Given the description of an element on the screen output the (x, y) to click on. 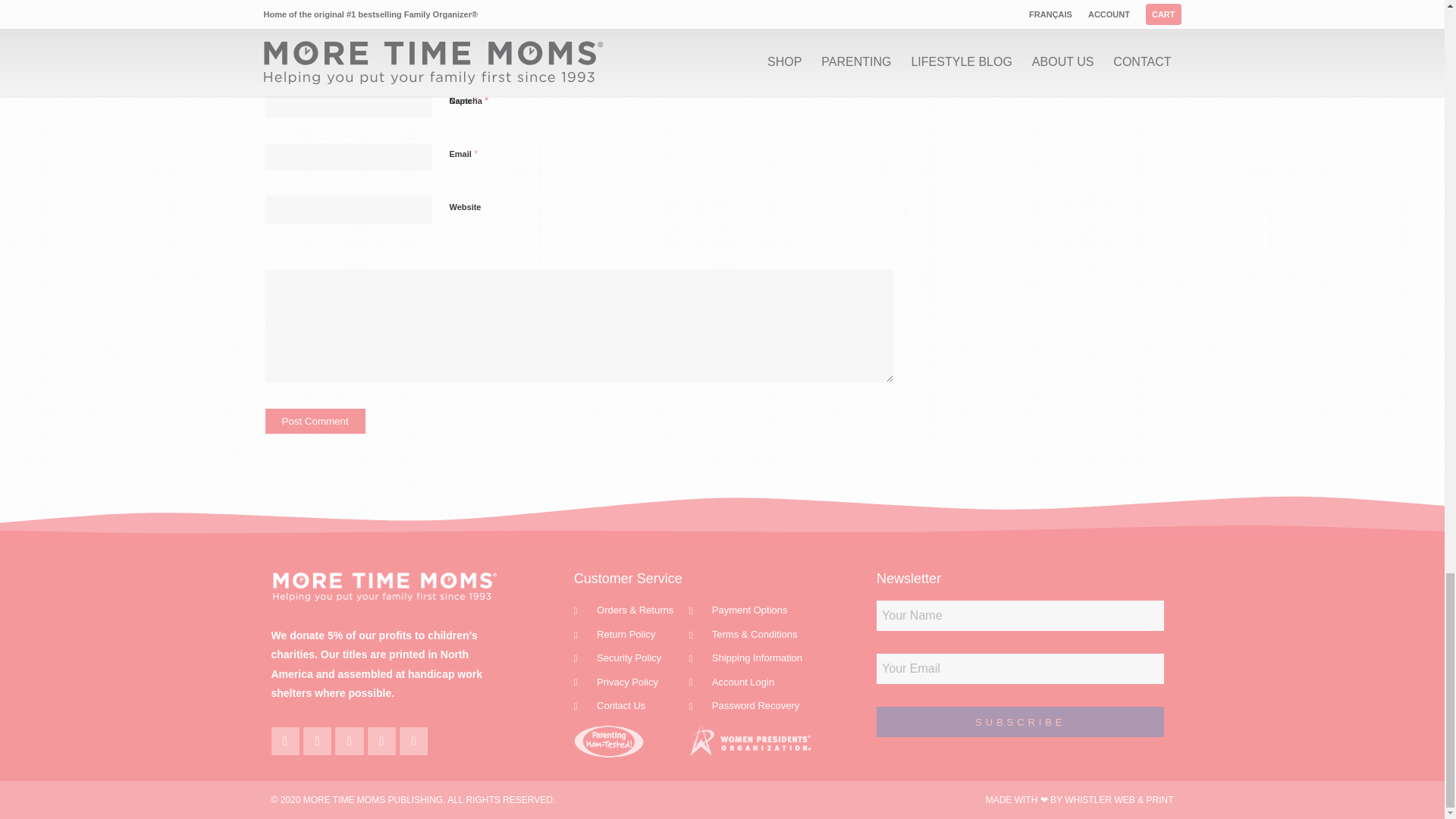
Post Comment (314, 421)
